Given the description of an element on the screen output the (x, y) to click on. 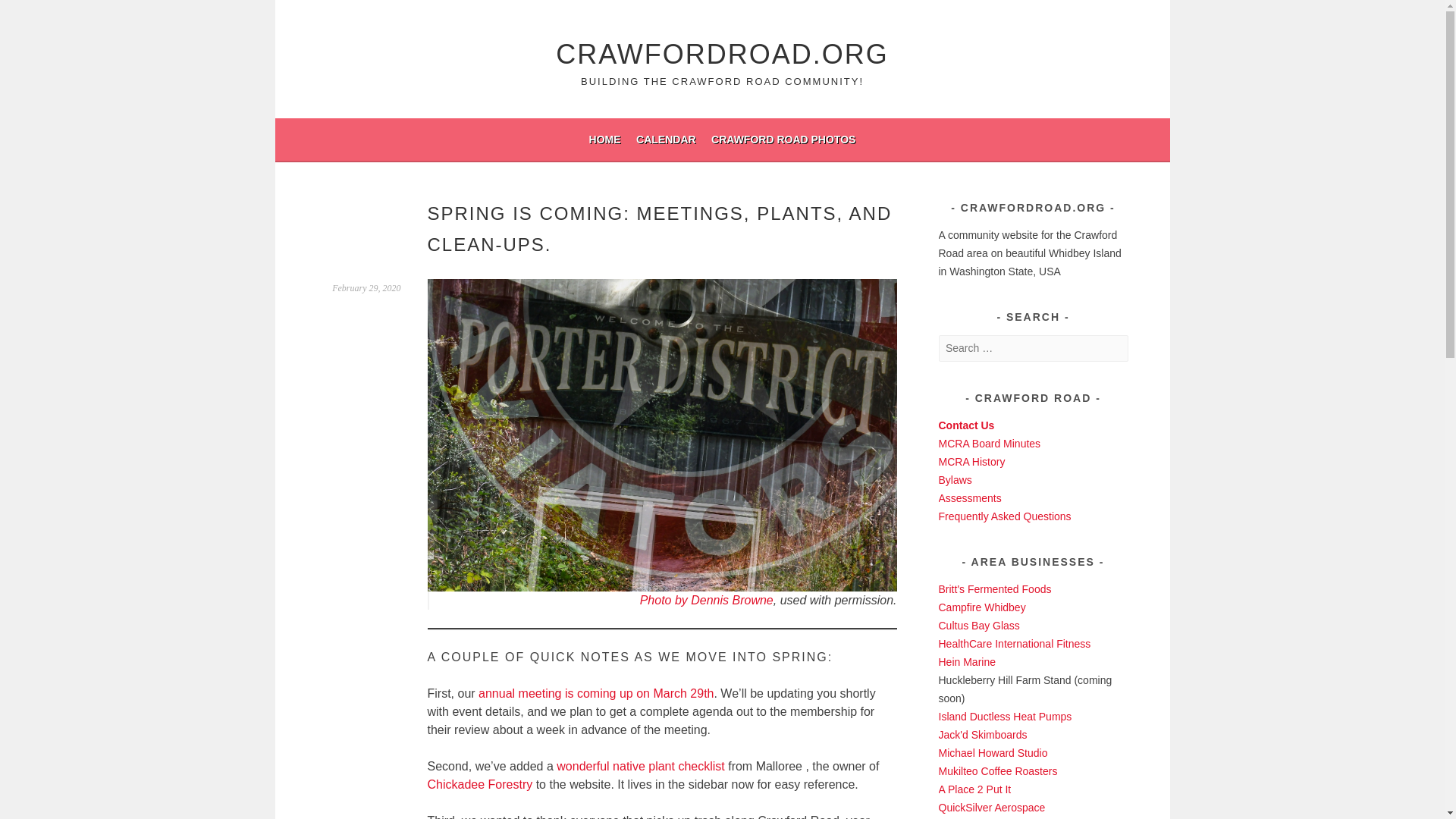
A Place 2 Put It (975, 788)
Contact Us (966, 425)
MCRA Board Minutes (990, 443)
Assessments (970, 498)
Photo by Dennis Browne (706, 599)
Britt's Fermented Foods (995, 589)
wonderful native plant checklist (639, 766)
Frequently Asked Questions (1005, 516)
HOME (605, 139)
Bylaws (955, 480)
Search (30, 13)
MCRA History (972, 461)
Chickadee Forestry (480, 784)
Island Ductless Heat Pumps (1005, 716)
